Given the description of an element on the screen output the (x, y) to click on. 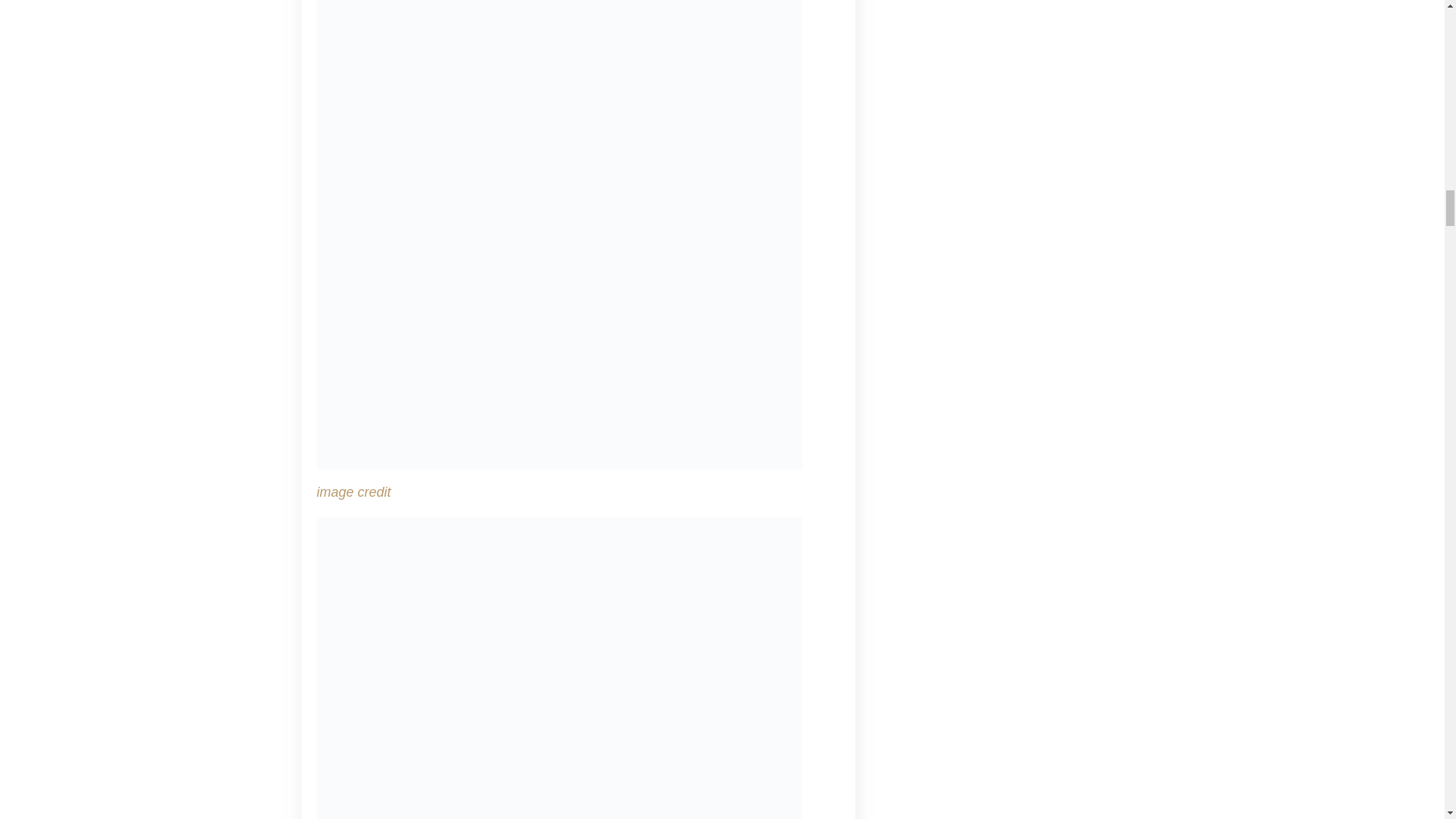
image credit (354, 491)
